Given the description of an element on the screen output the (x, y) to click on. 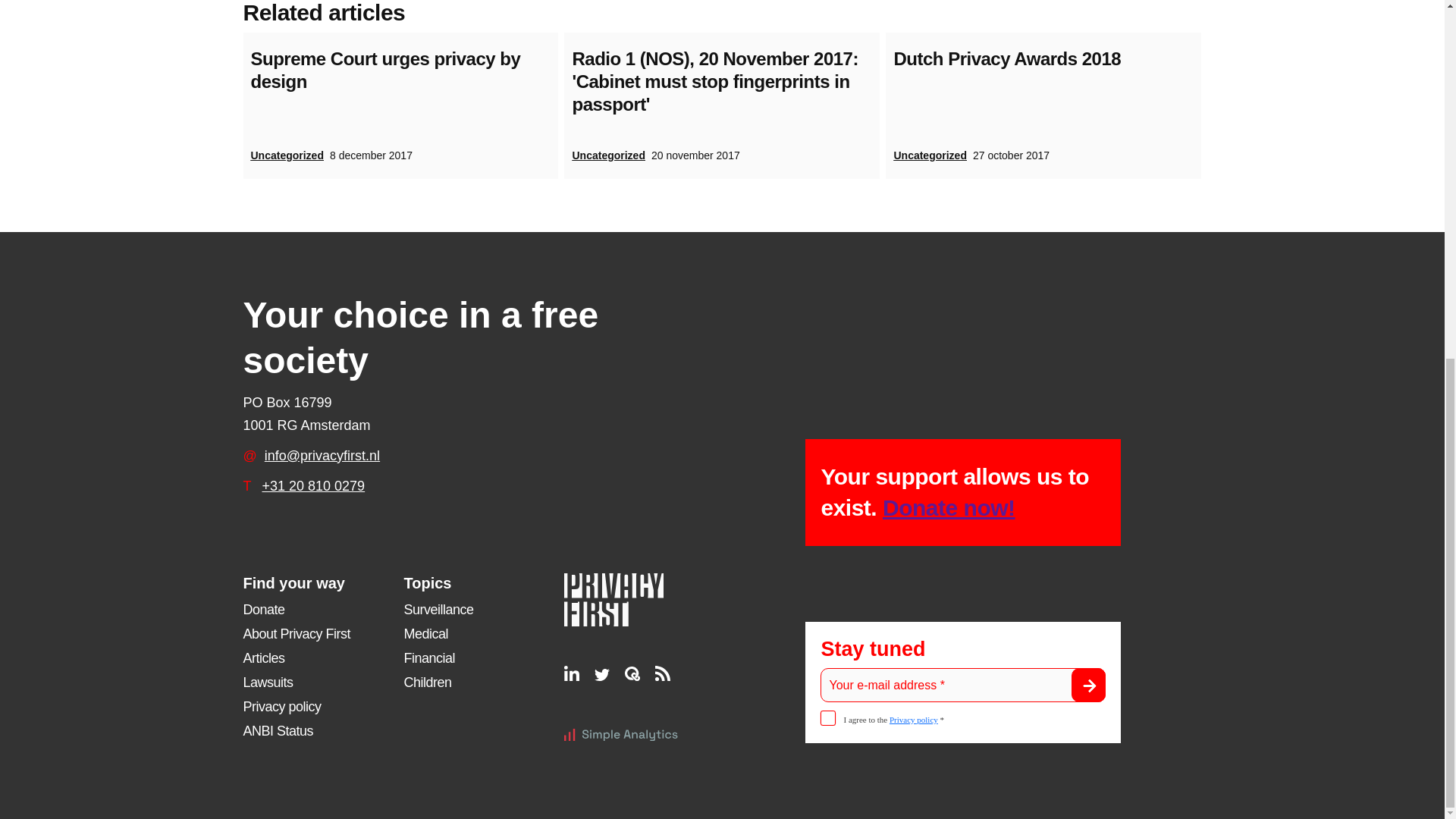
on (828, 717)
